Given the description of an element on the screen output the (x, y) to click on. 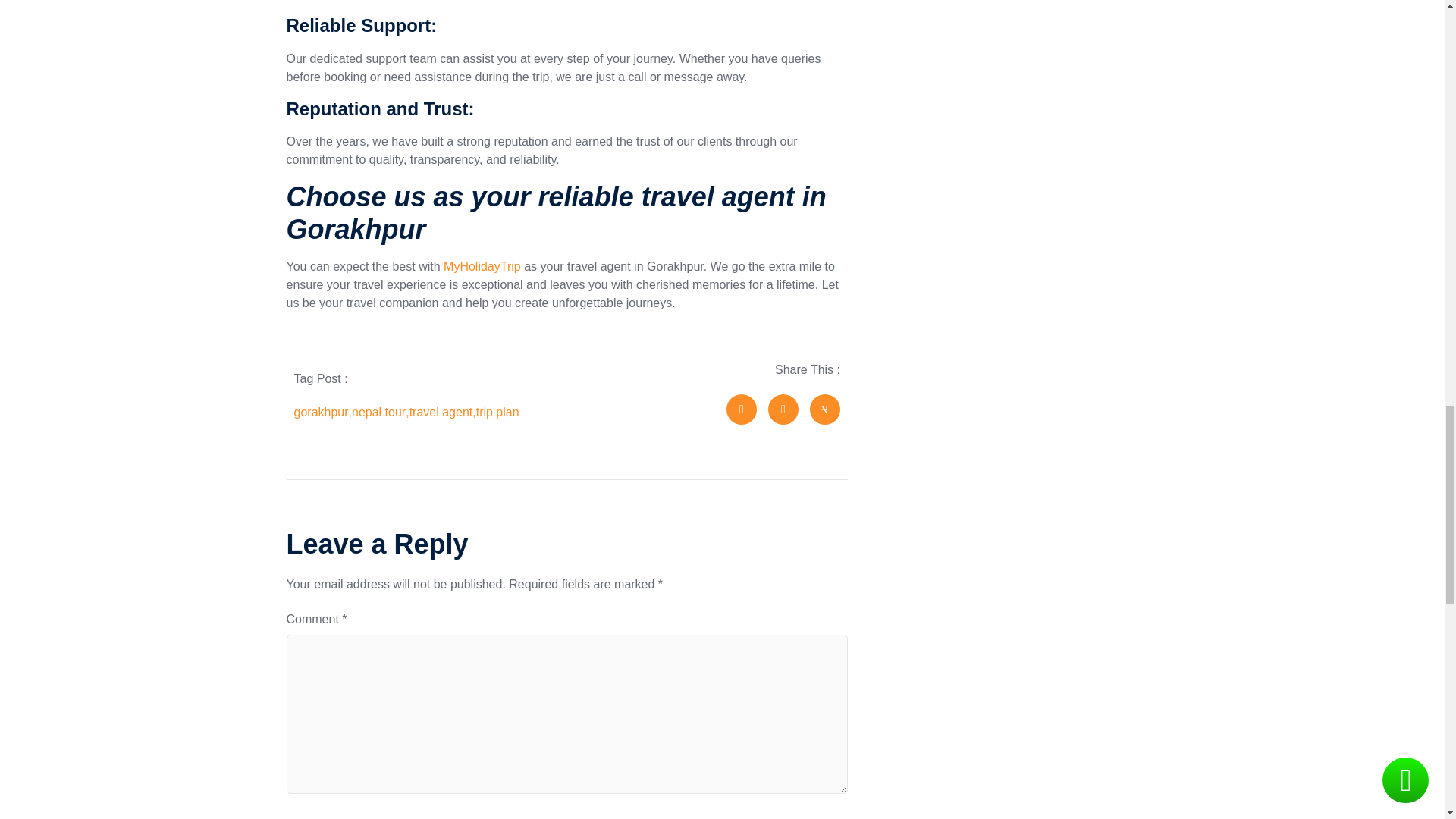
MyHolidayTrip (482, 266)
